Given the description of an element on the screen output the (x, y) to click on. 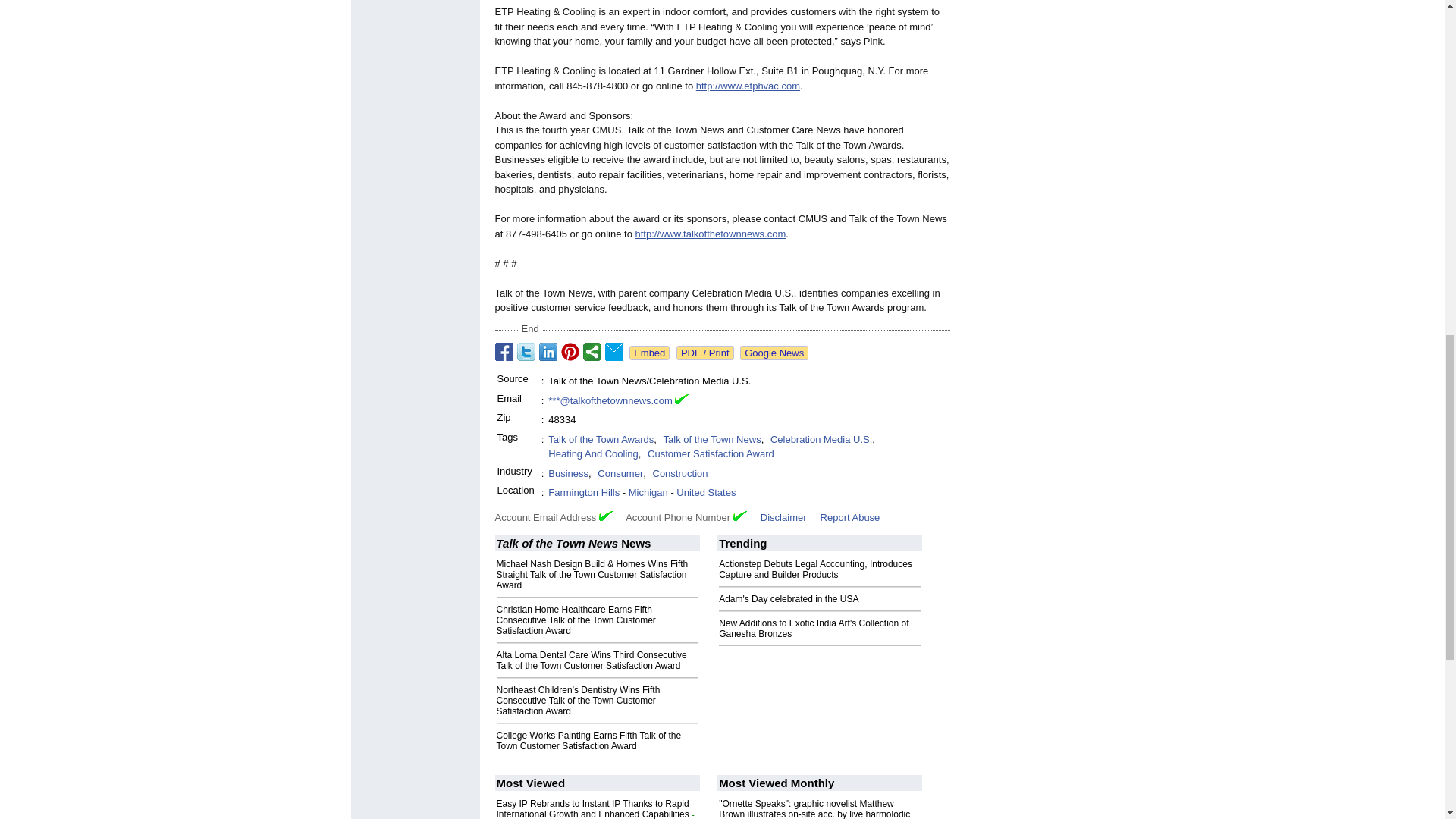
Email to a Friend (614, 352)
Share on StumbleUpon, Digg, etc (590, 352)
Verified (739, 515)
See or print the PDF version! (705, 352)
Embed this press release in your website! (648, 352)
Share on LinkedIn (547, 352)
Verified (605, 515)
Email Verified (681, 400)
Embed (648, 352)
